Given the description of an element on the screen output the (x, y) to click on. 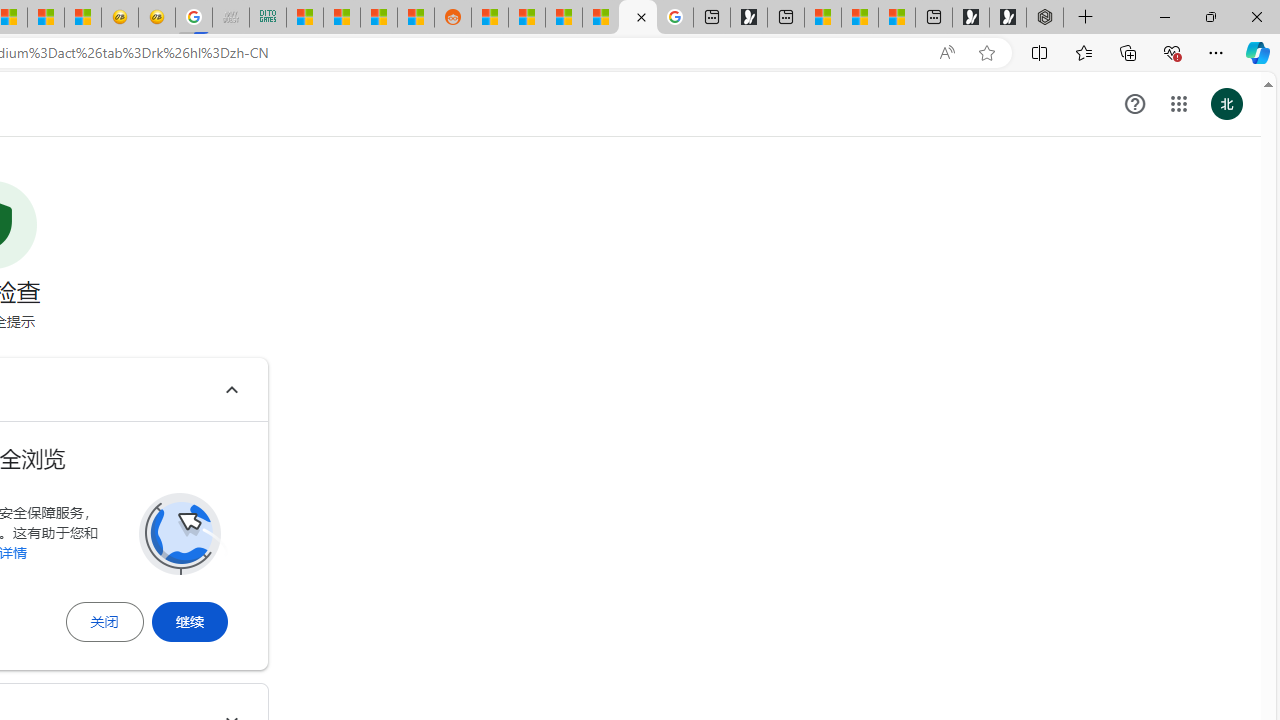
Class: gb_E (1178, 103)
